Given the description of an element on the screen output the (x, y) to click on. 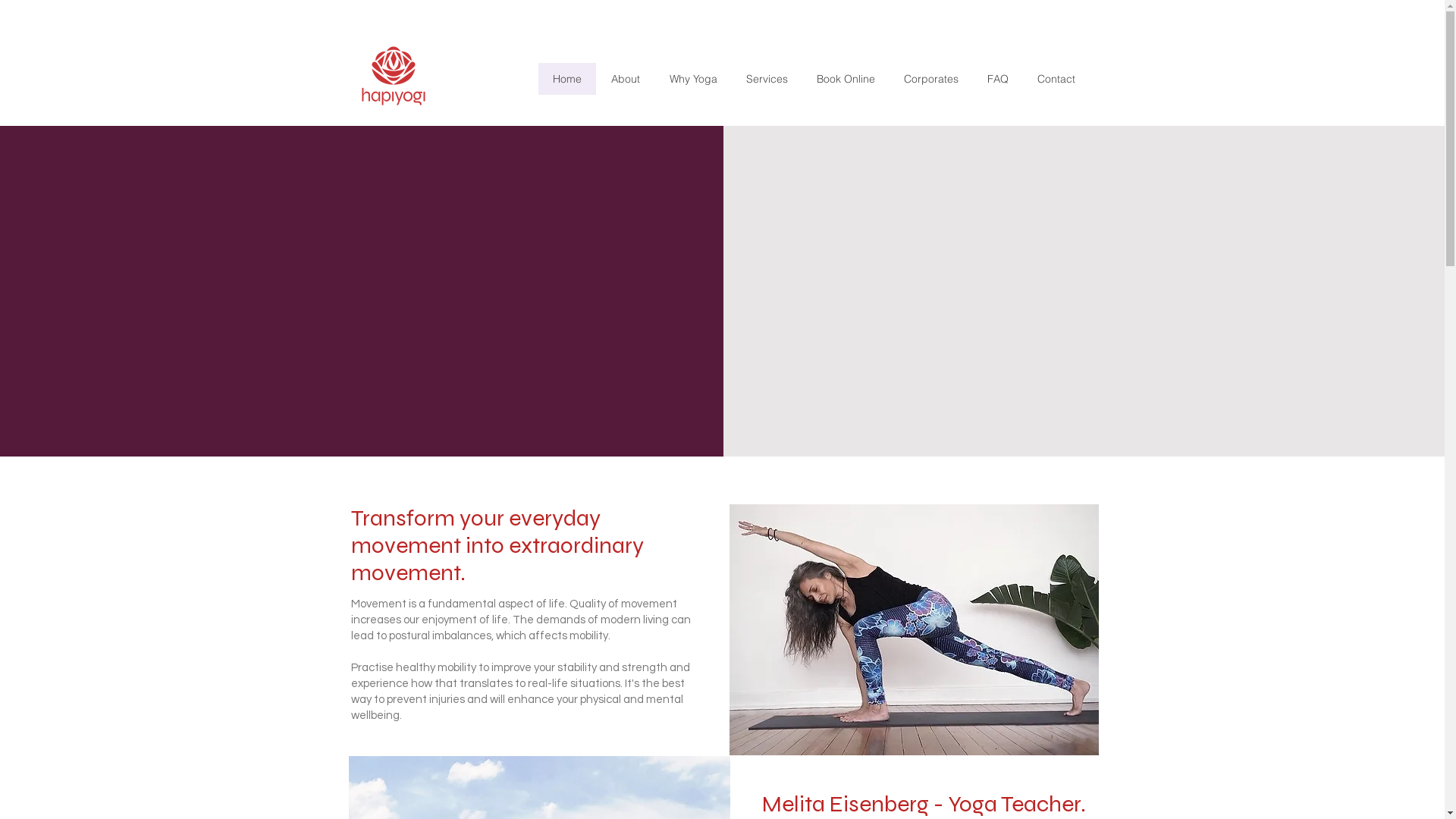
Contact Element type: text (1055, 78)
Corporates Element type: text (930, 78)
FAQ Element type: text (997, 78)
About Element type: text (625, 78)
Home Element type: text (567, 78)
Why Yoga Element type: text (692, 78)
Services Element type: text (766, 78)
Book Online Element type: text (845, 78)
